Given the description of an element on the screen output the (x, y) to click on. 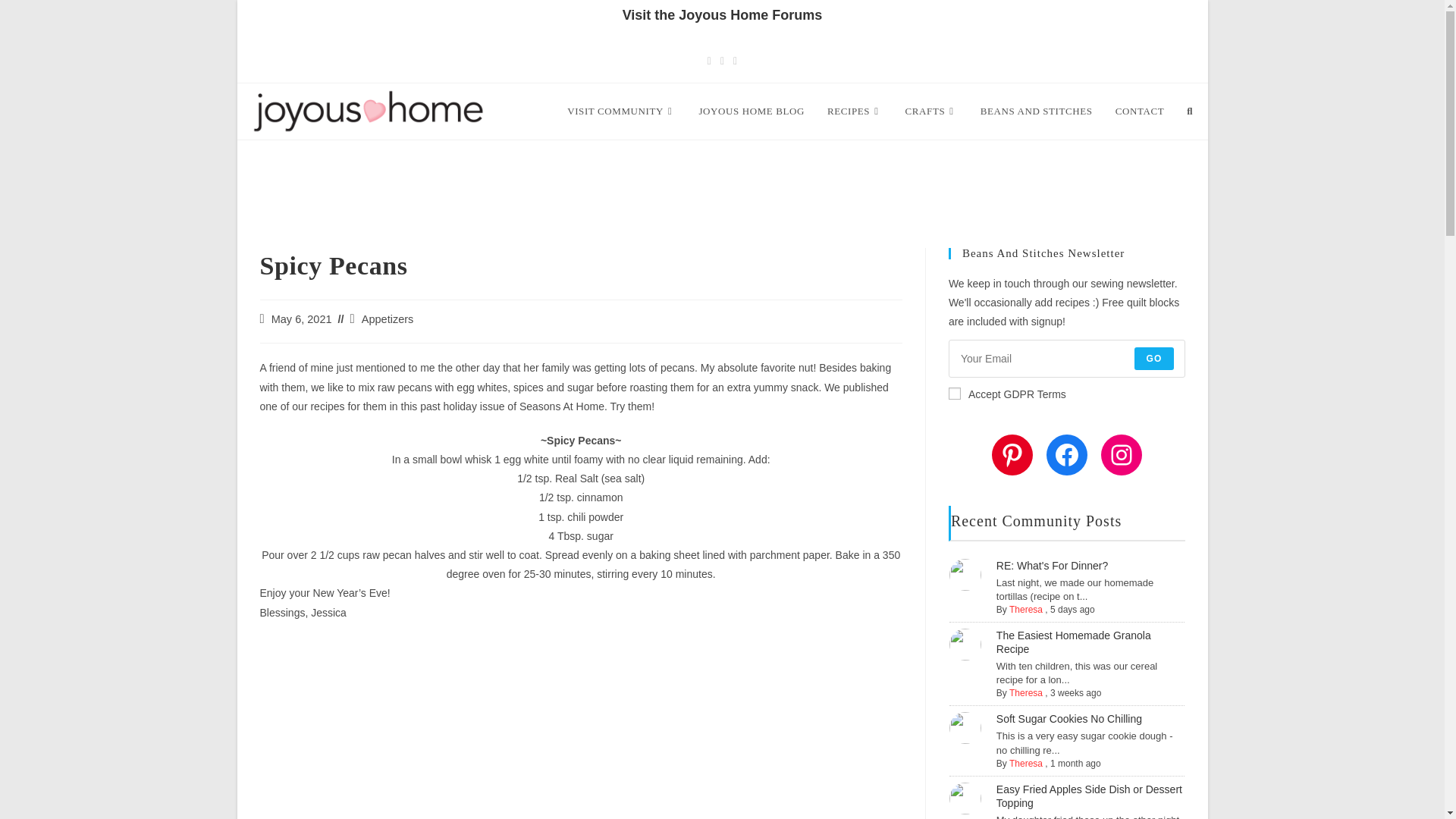
1 (954, 393)
JOYOUS HOME BLOG (751, 111)
CONTACT (1139, 111)
RECIPES (854, 111)
VISIT COMMUNITY (621, 111)
BEANS AND STITCHES (1036, 111)
Visit the Joyous Home Forums (722, 14)
CRAFTS (931, 111)
